Given the description of an element on the screen output the (x, y) to click on. 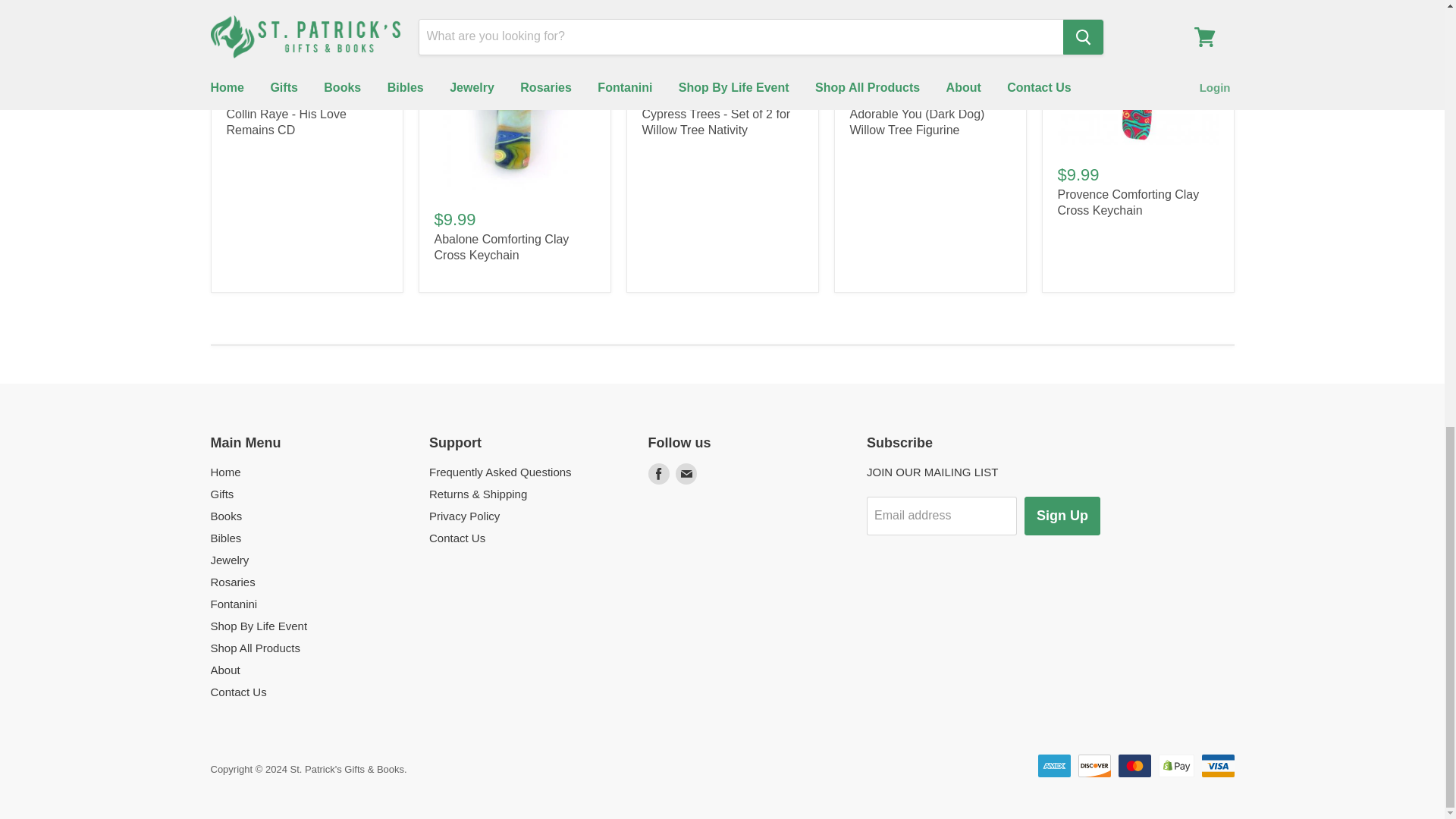
E-mail (684, 473)
Facebook (658, 473)
